Given the description of an element on the screen output the (x, y) to click on. 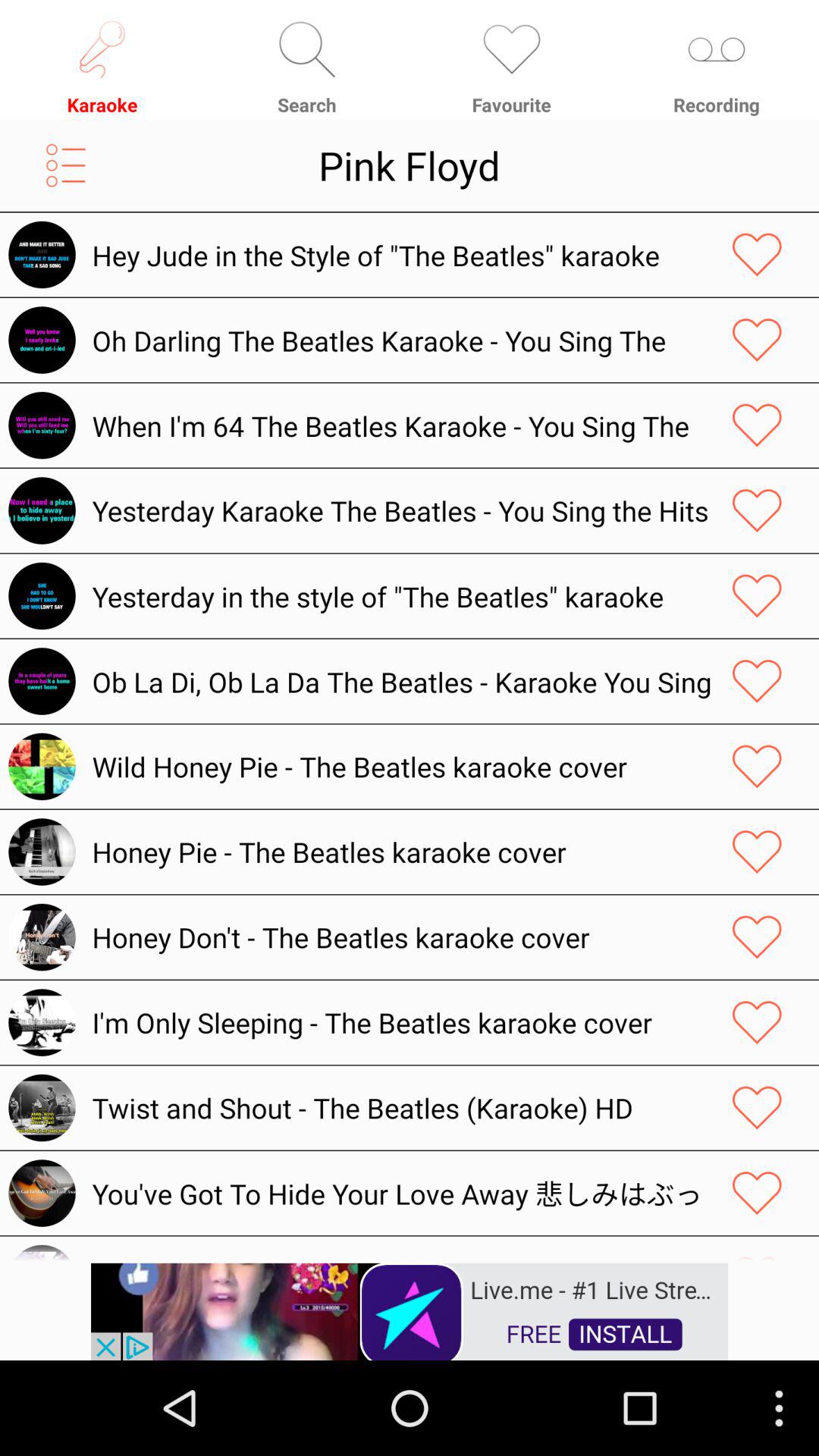
add song to favourites (756, 595)
